Given the description of an element on the screen output the (x, y) to click on. 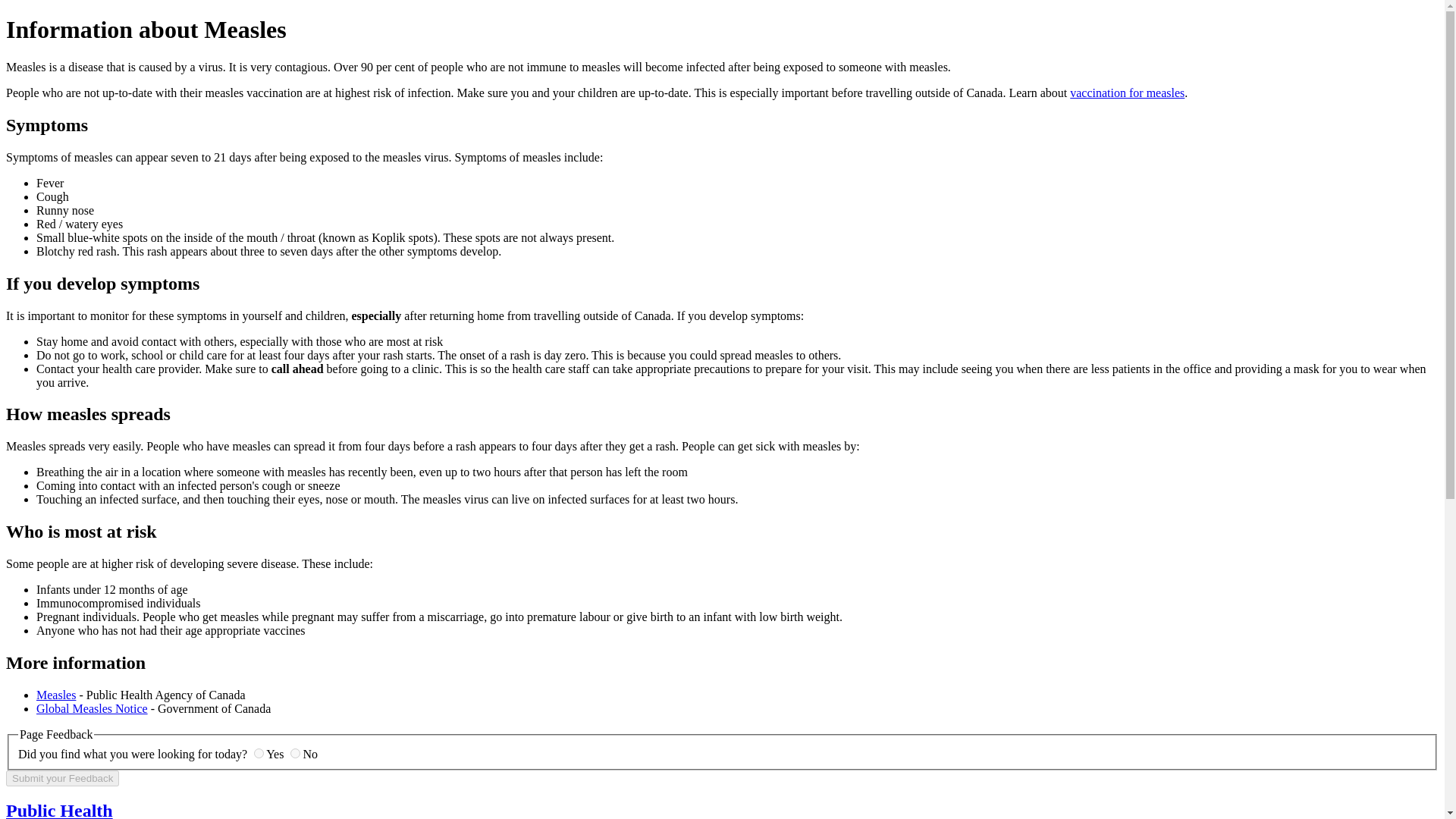
Public Health (59, 809)
Y (258, 753)
Submit your Feedback (62, 778)
Submit your Feedback (62, 778)
N (294, 753)
Global Measles Notice (92, 707)
vaccination for measles (1127, 92)
Measles (55, 694)
